Given the description of an element on the screen output the (x, y) to click on. 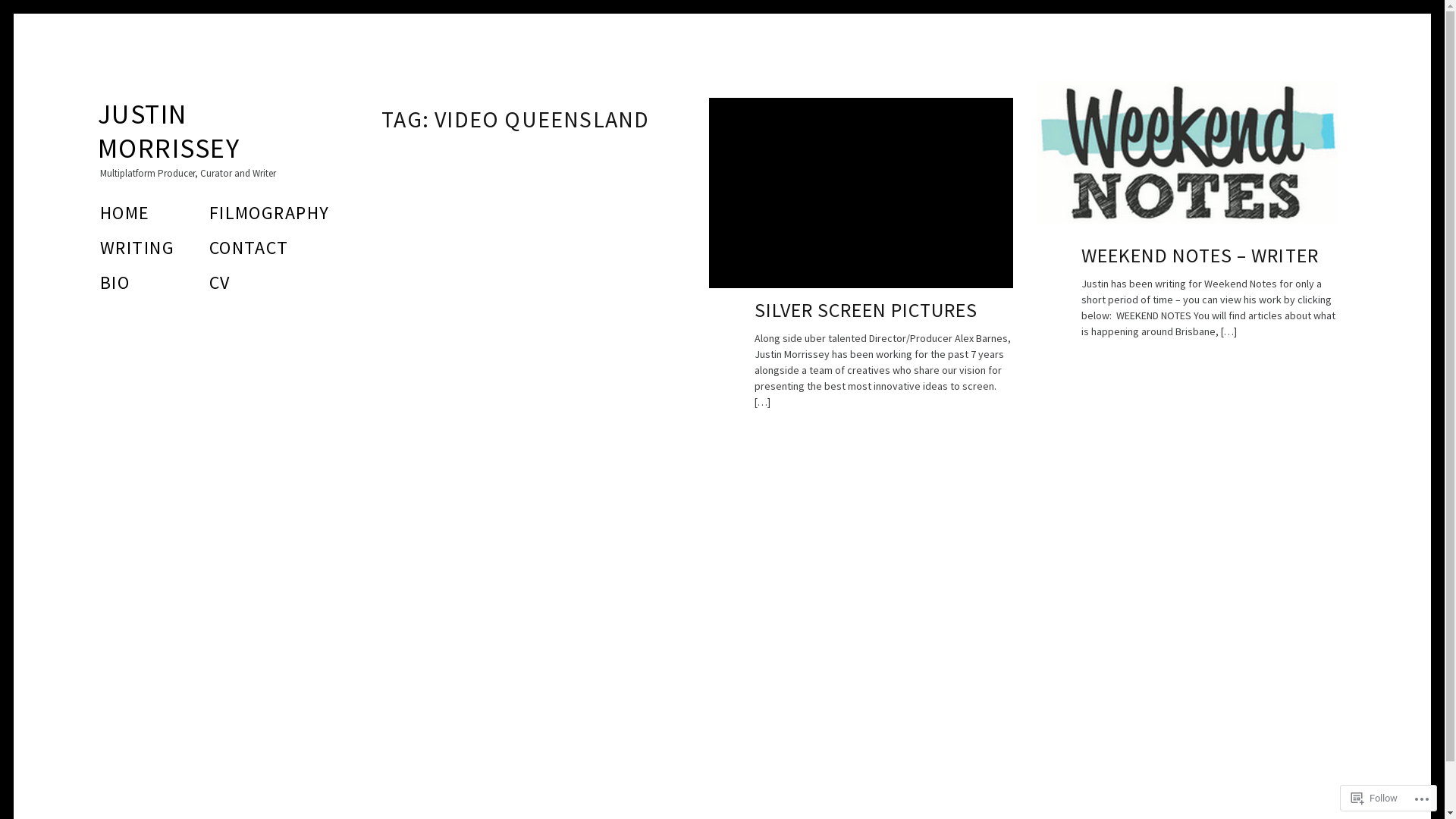
CONTACT Element type: text (248, 247)
Follow Element type: text (1374, 797)
JUSTIN MORRISSEY Element type: text (168, 131)
HOME Element type: text (124, 212)
BIO Element type: text (114, 282)
WRITING Element type: text (136, 247)
SILVER SCREEN PICTURES Element type: text (865, 309)
CV Element type: text (219, 282)
FILMOGRAPHY Element type: text (269, 212)
